Given the description of an element on the screen output the (x, y) to click on. 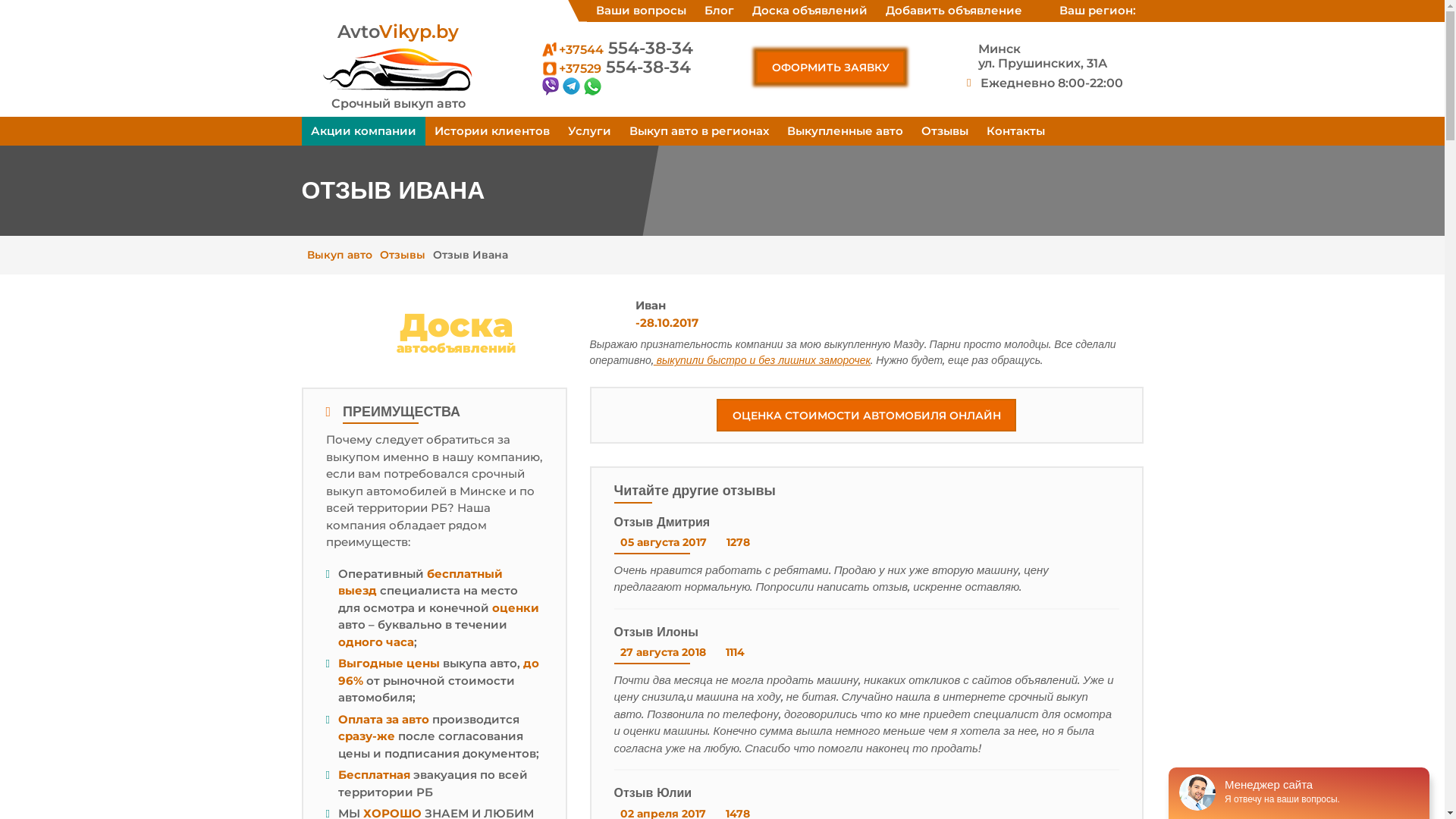
+37529 554-38-34 Element type: text (614, 66)
+37544 554-38-34 Element type: text (615, 47)
